Given the description of an element on the screen output the (x, y) to click on. 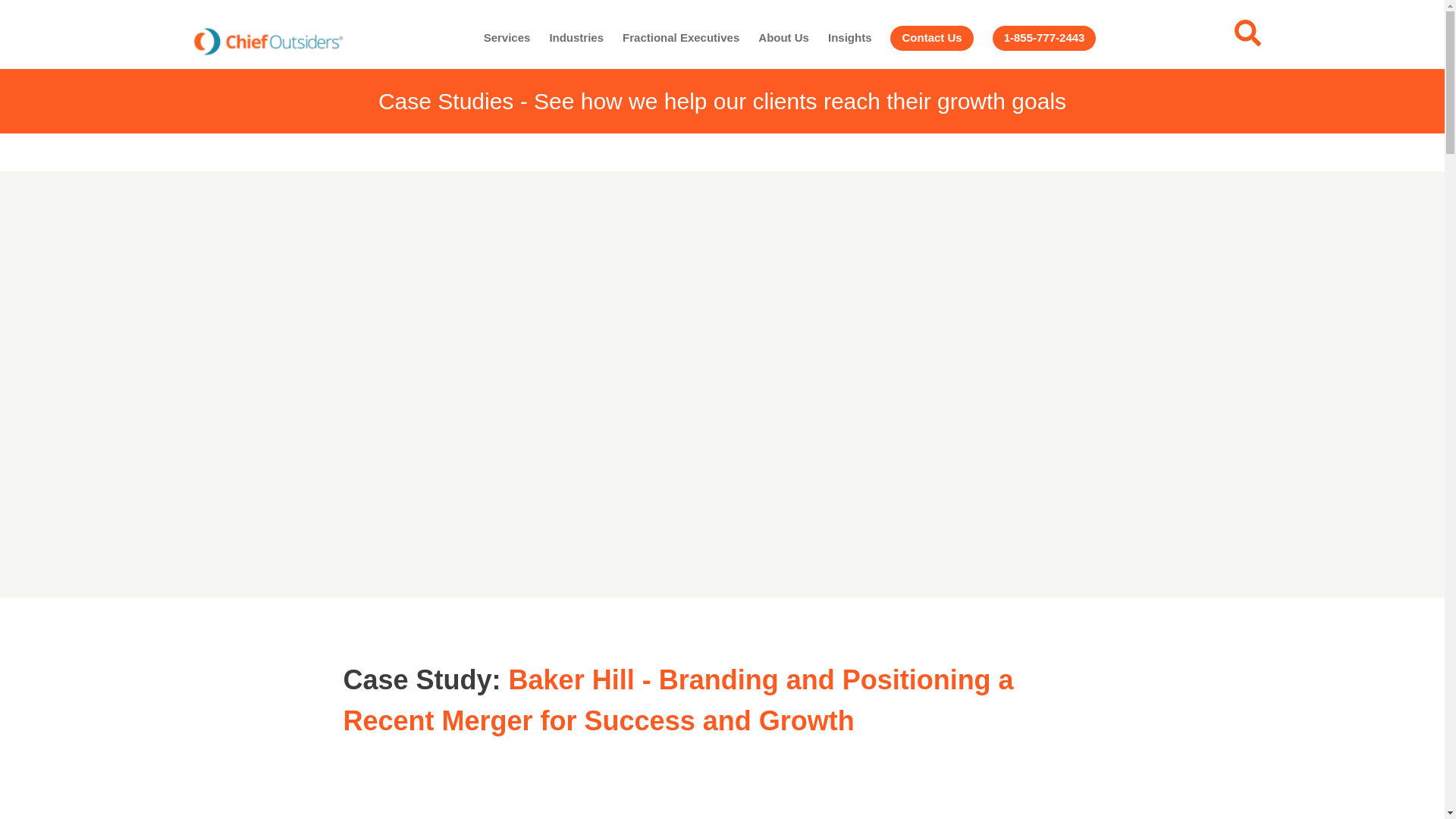
Insights (850, 37)
Fractional Executives (681, 37)
Services (507, 37)
Contact Us (930, 37)
Industries (576, 37)
1-855-777-2443 (1044, 37)
About Us (783, 37)
